Given the description of an element on the screen output the (x, y) to click on. 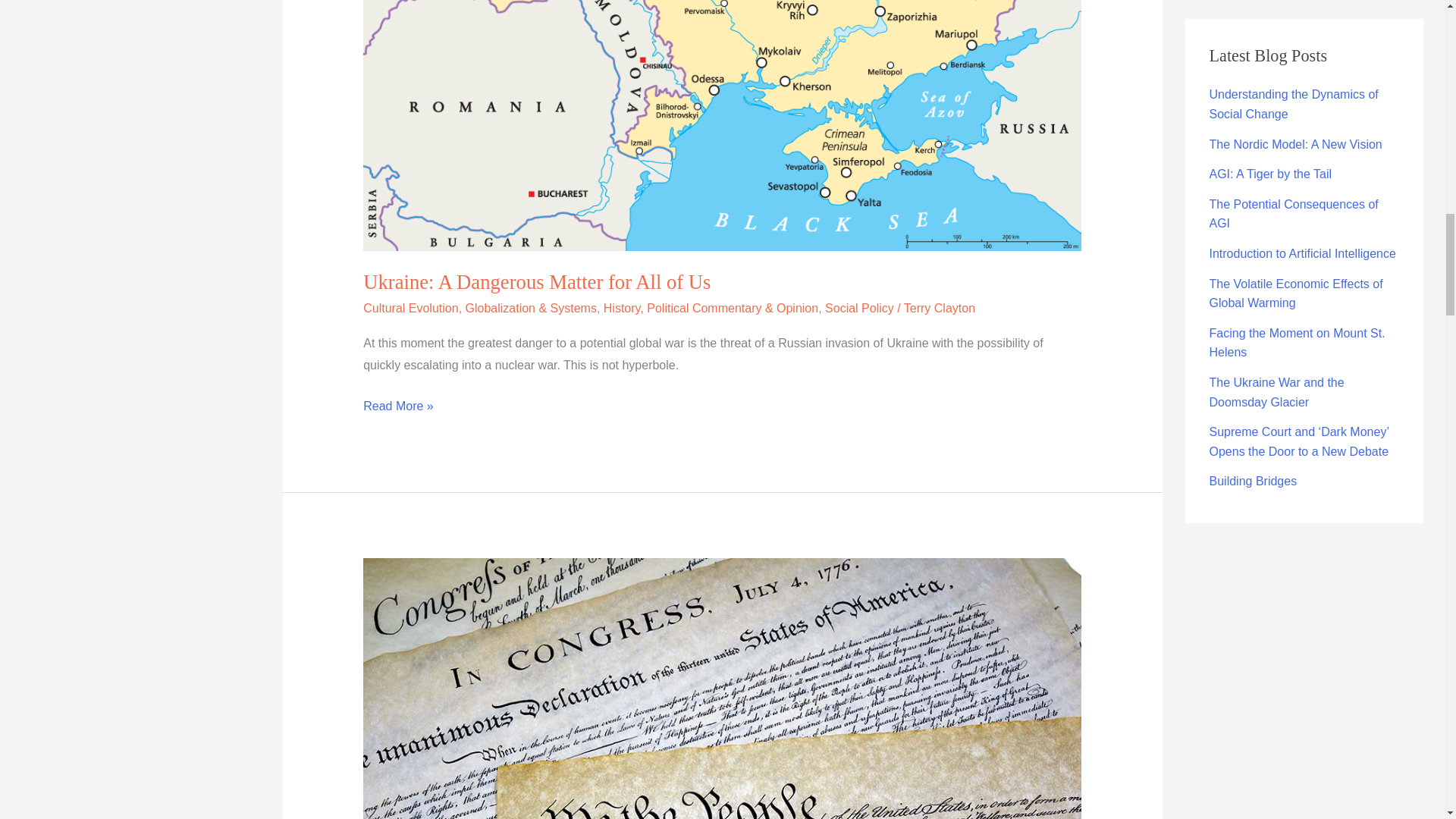
Cultural Evolution (410, 308)
View all posts by Terry Clayton (939, 308)
History (622, 308)
Social Policy (859, 308)
Ukraine: A Dangerous Matter for All of Us (536, 282)
Terry Clayton (939, 308)
